Given the description of an element on the screen output the (x, y) to click on. 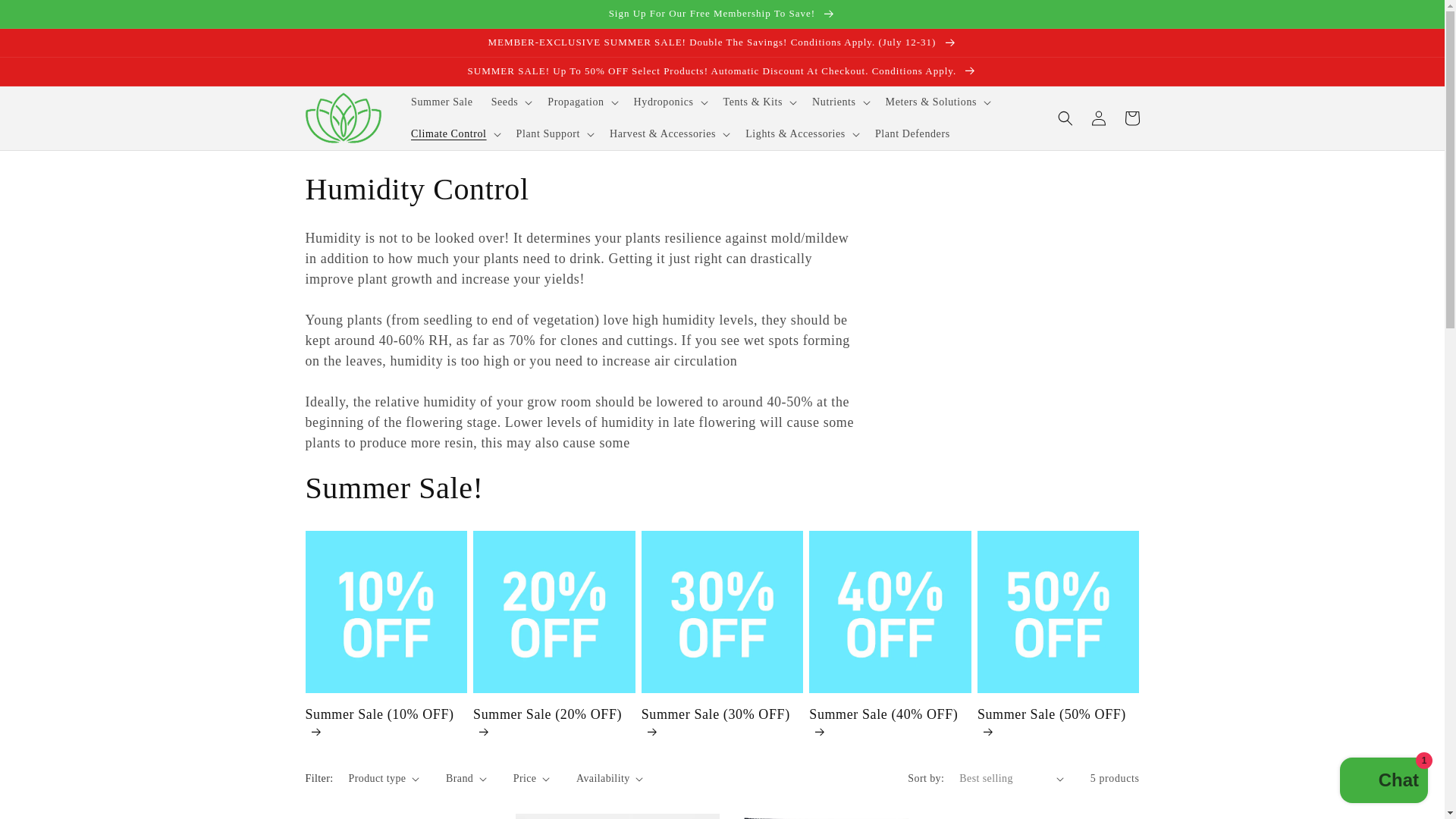
Skip to content (45, 17)
Shopify online store chat (1383, 781)
